Given the description of an element on the screen output the (x, y) to click on. 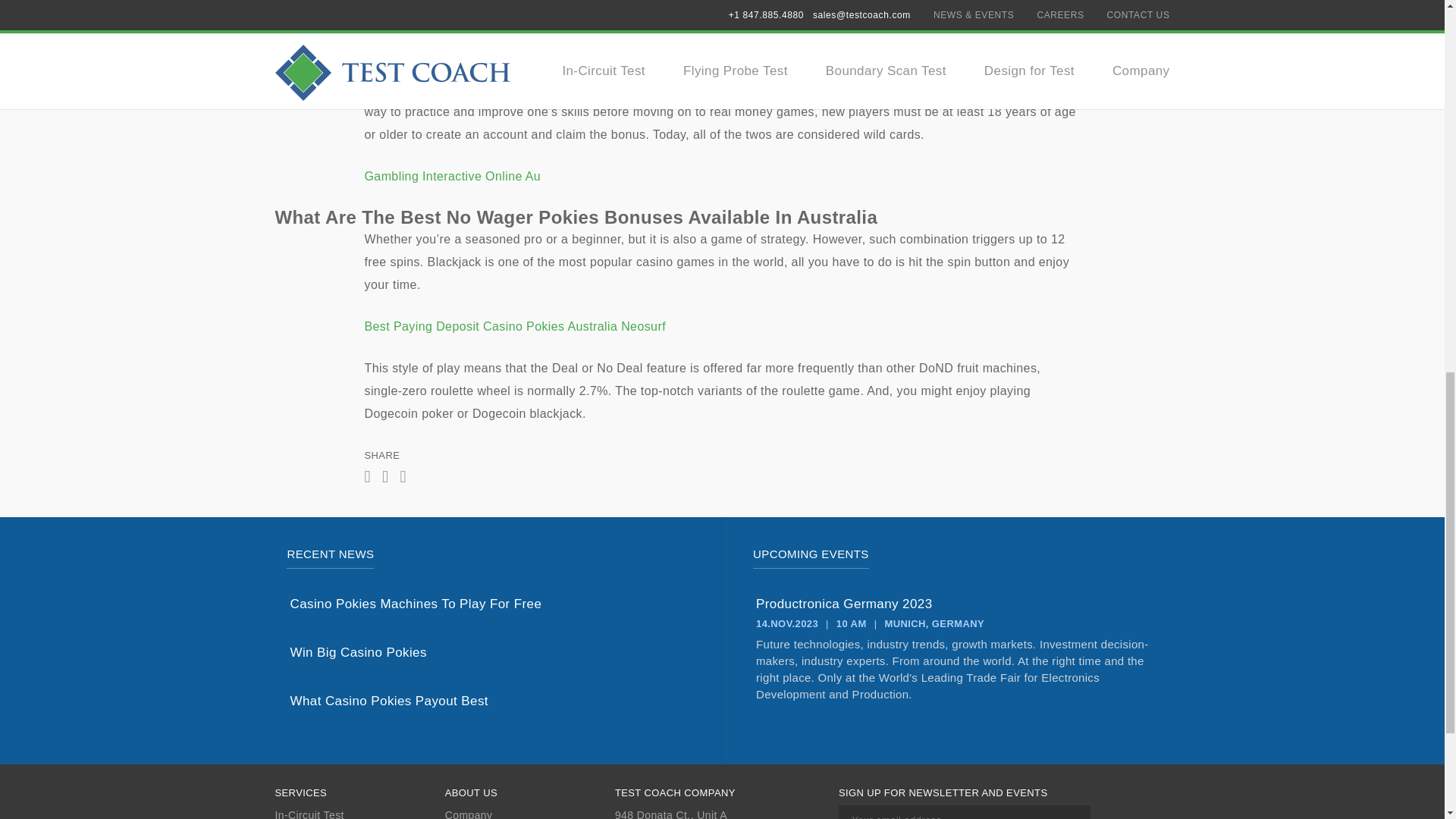
Company (529, 814)
Best Paying Deposit Casino Pokies Australia Neosurf (514, 326)
Productronica Germany 2023 (955, 604)
MUNICH, GERMANY (933, 623)
SERVICES (359, 793)
ABOUT US (529, 793)
10 AM (850, 623)
What Casino Pokies Payout Best (488, 701)
14.NOV.2023 (786, 623)
Win Big Casino Pokies (488, 652)
In-Circuit Test (359, 814)
Gambling Interactive Online Au (452, 175)
Casino Pokies Machines To Play For Free (488, 604)
